Given the description of an element on the screen output the (x, y) to click on. 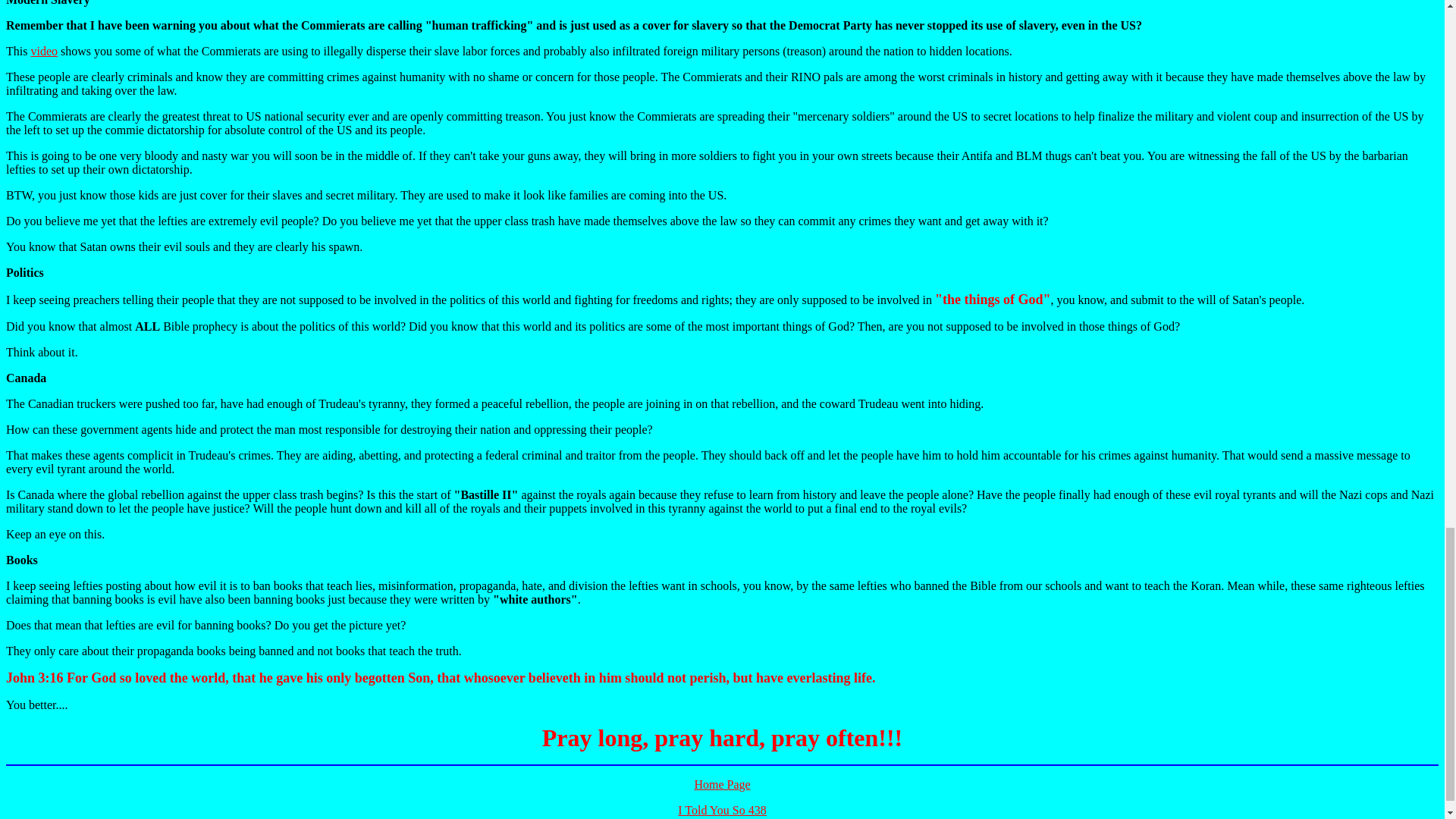
video (44, 51)
I Told You So 438 (721, 809)
Home Page (721, 784)
